Given the description of an element on the screen output the (x, y) to click on. 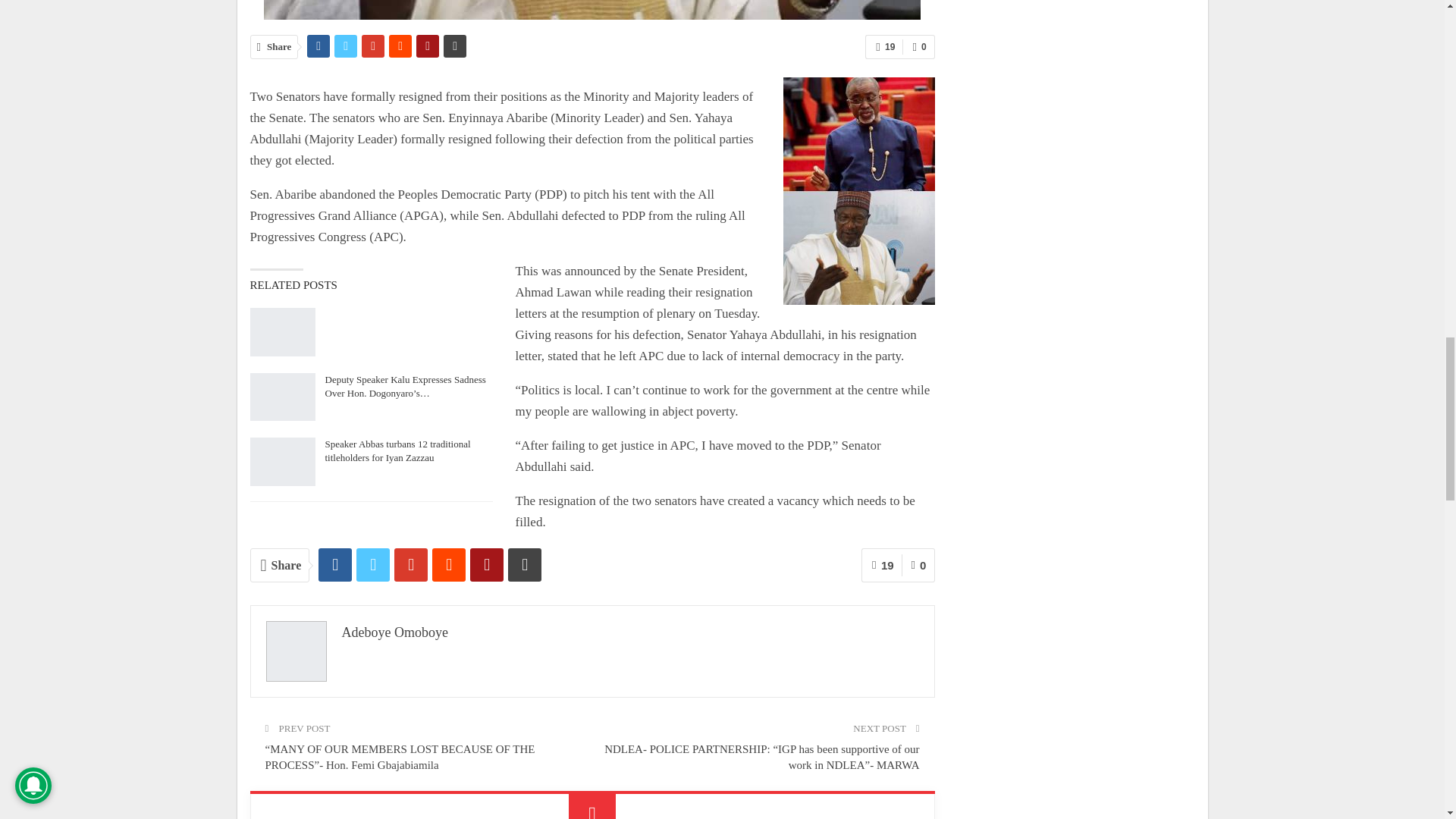
0 (918, 46)
